Given the description of an element on the screen output the (x, y) to click on. 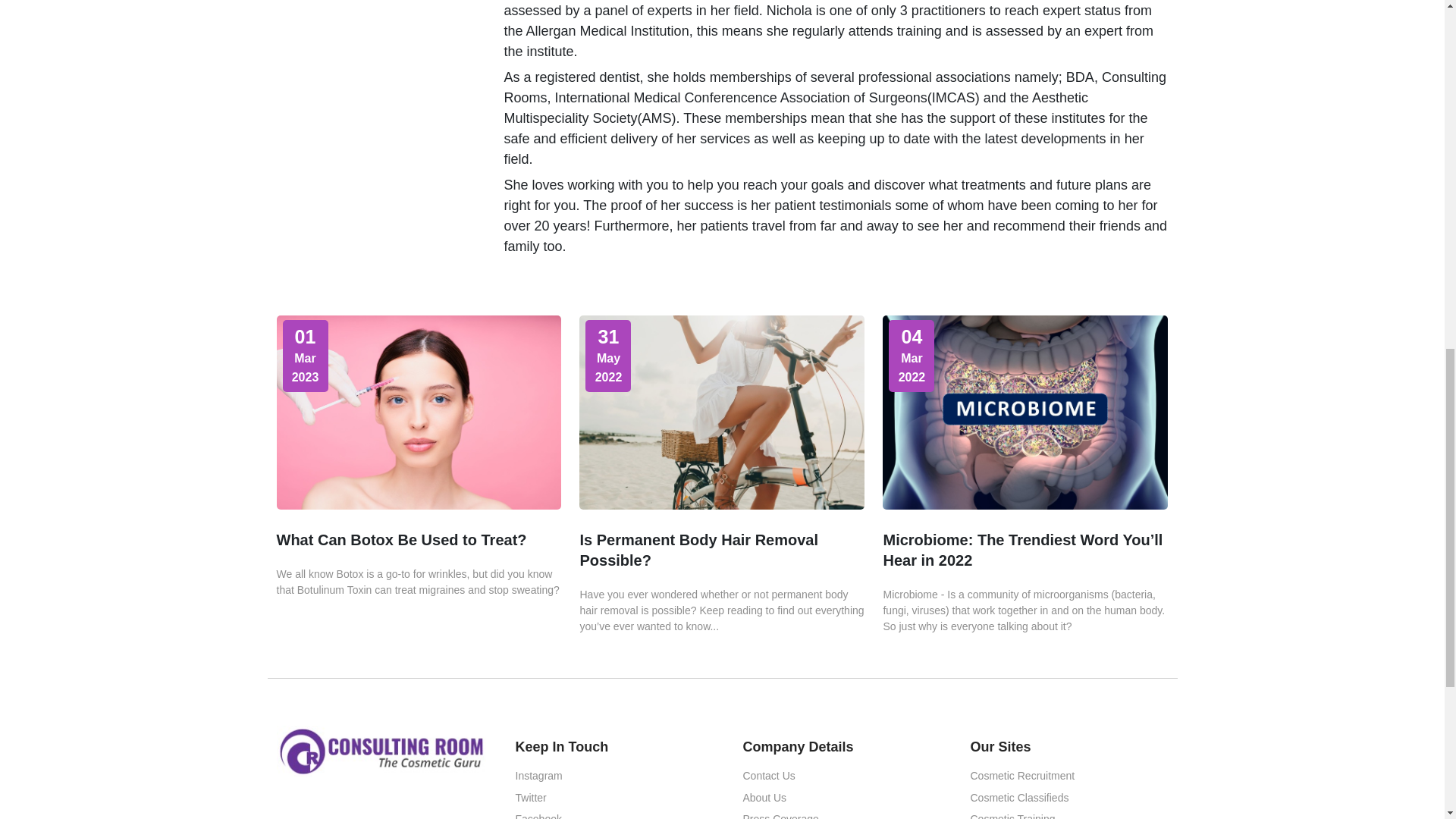
What Can Botox Be Used to Treat? (400, 540)
Is Permanent Body Hair Removal Possible? (698, 550)
